Given the description of an element on the screen output the (x, y) to click on. 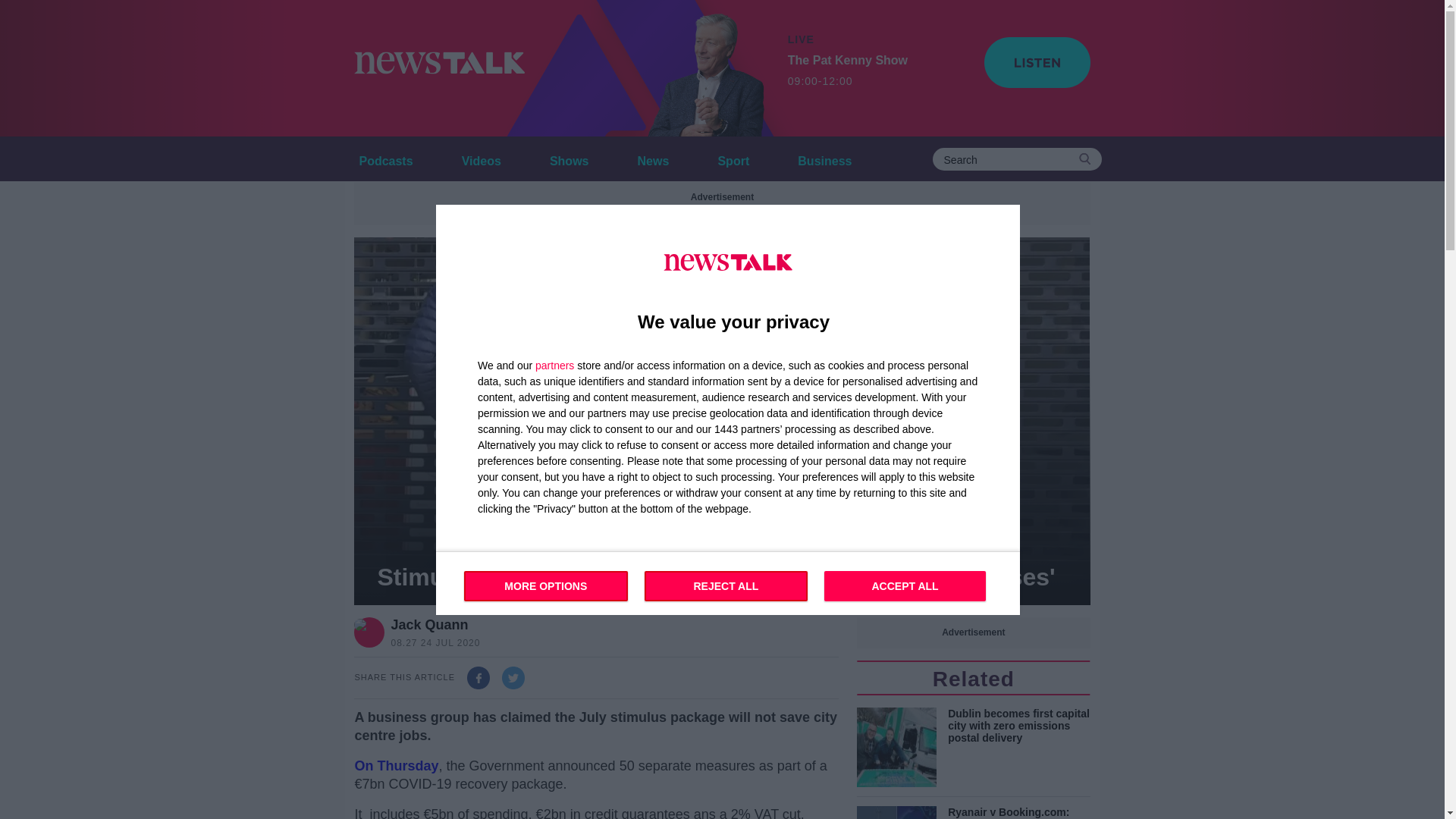
Podcasts (384, 158)
Shows (569, 158)
Videos (481, 158)
Videos (481, 158)
News (653, 158)
The Pat Kenny Show (701, 68)
Business (824, 158)
MORE OPTIONS (545, 585)
Jack Quann (432, 624)
REJECT ALL (726, 585)
Business (727, 582)
ACCEPT ALL (824, 158)
Shows (904, 585)
